Given the description of an element on the screen output the (x, y) to click on. 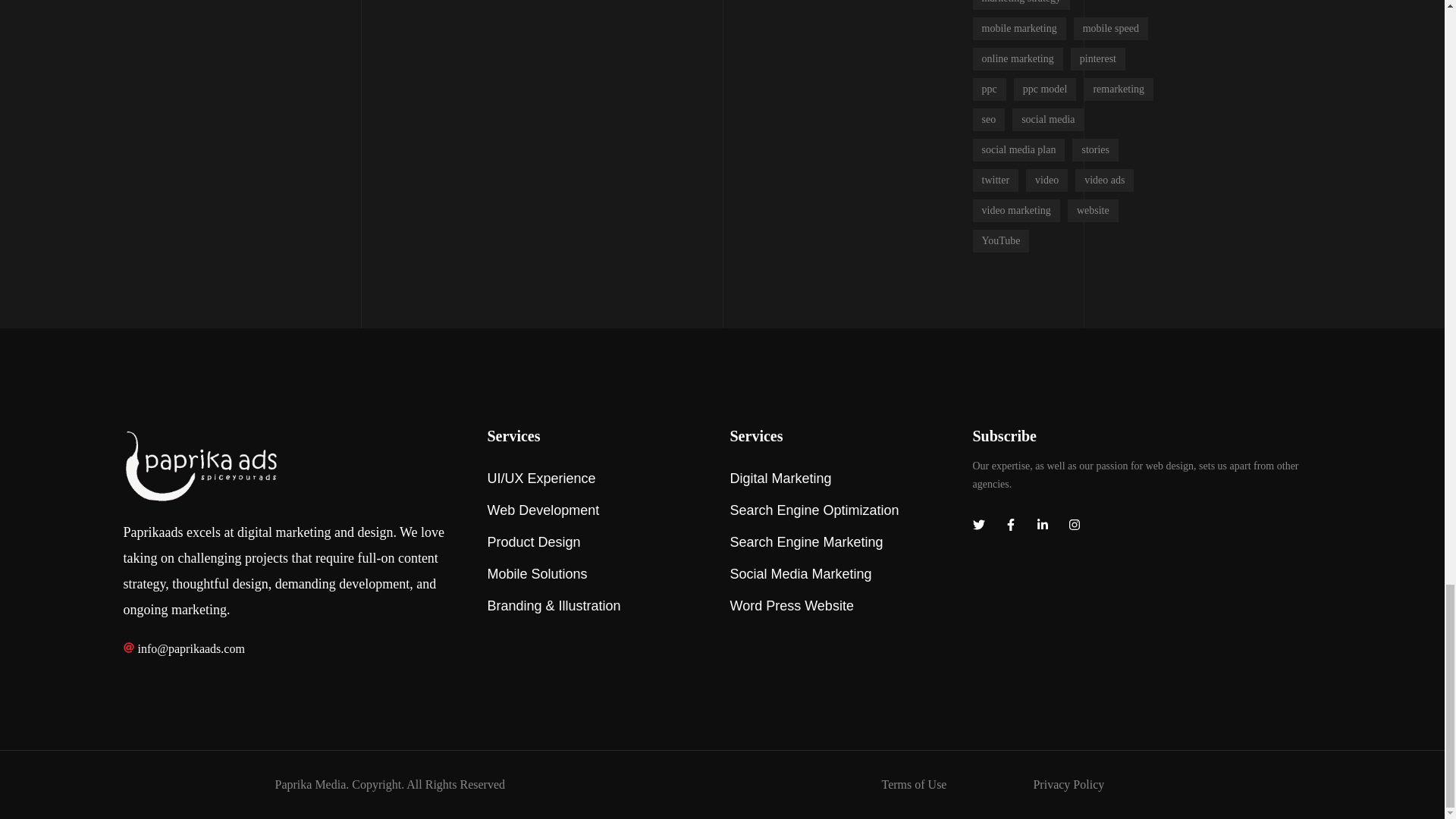
Facebook (1009, 524)
Instagram (1073, 524)
LinkeIn (1041, 524)
Twitter (978, 524)
